Given the description of an element on the screen output the (x, y) to click on. 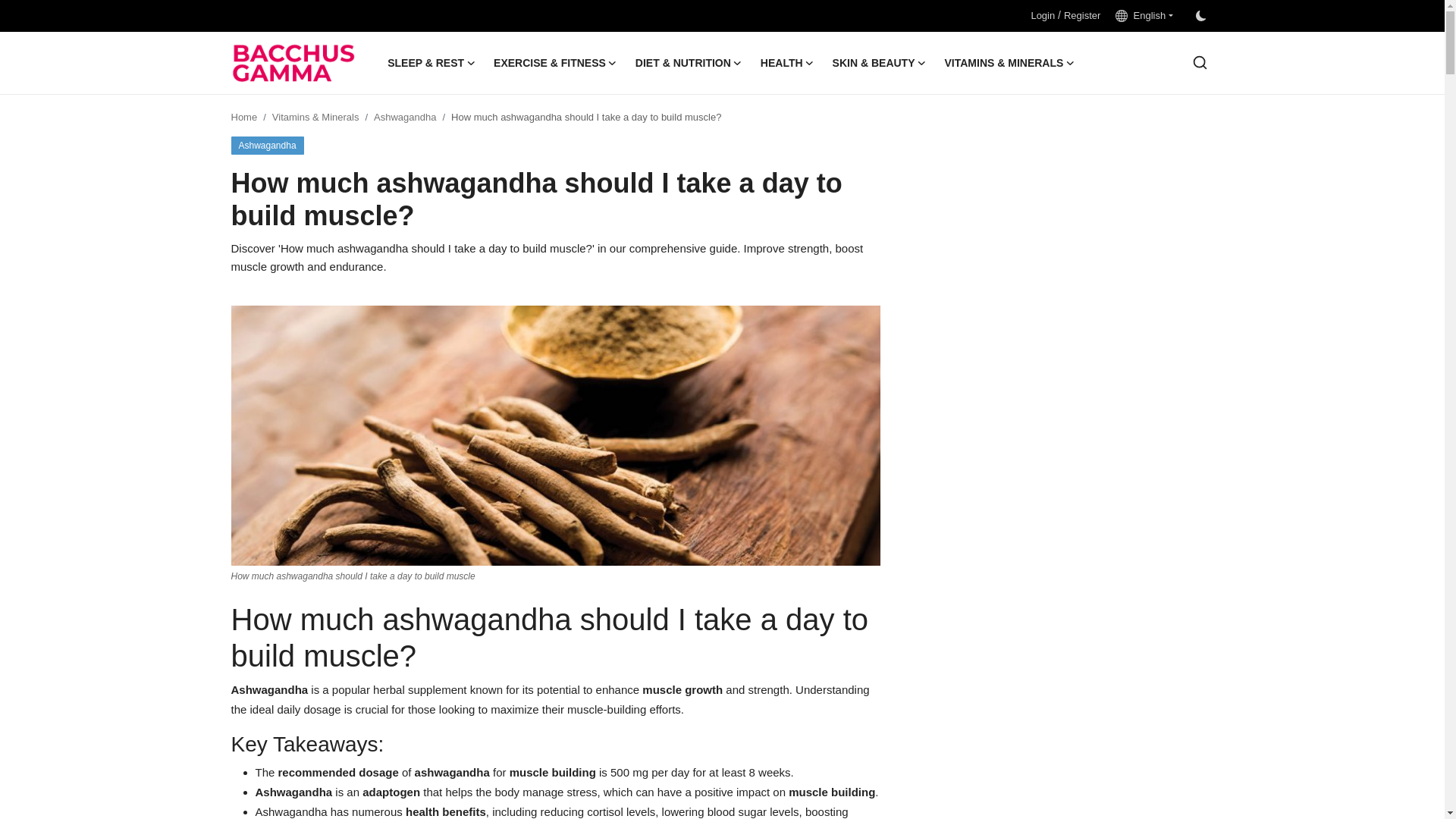
HEALTH (787, 62)
Login (1042, 15)
dark (1200, 15)
Register (1082, 15)
  English (1143, 15)
